Given the description of an element on the screen output the (x, y) to click on. 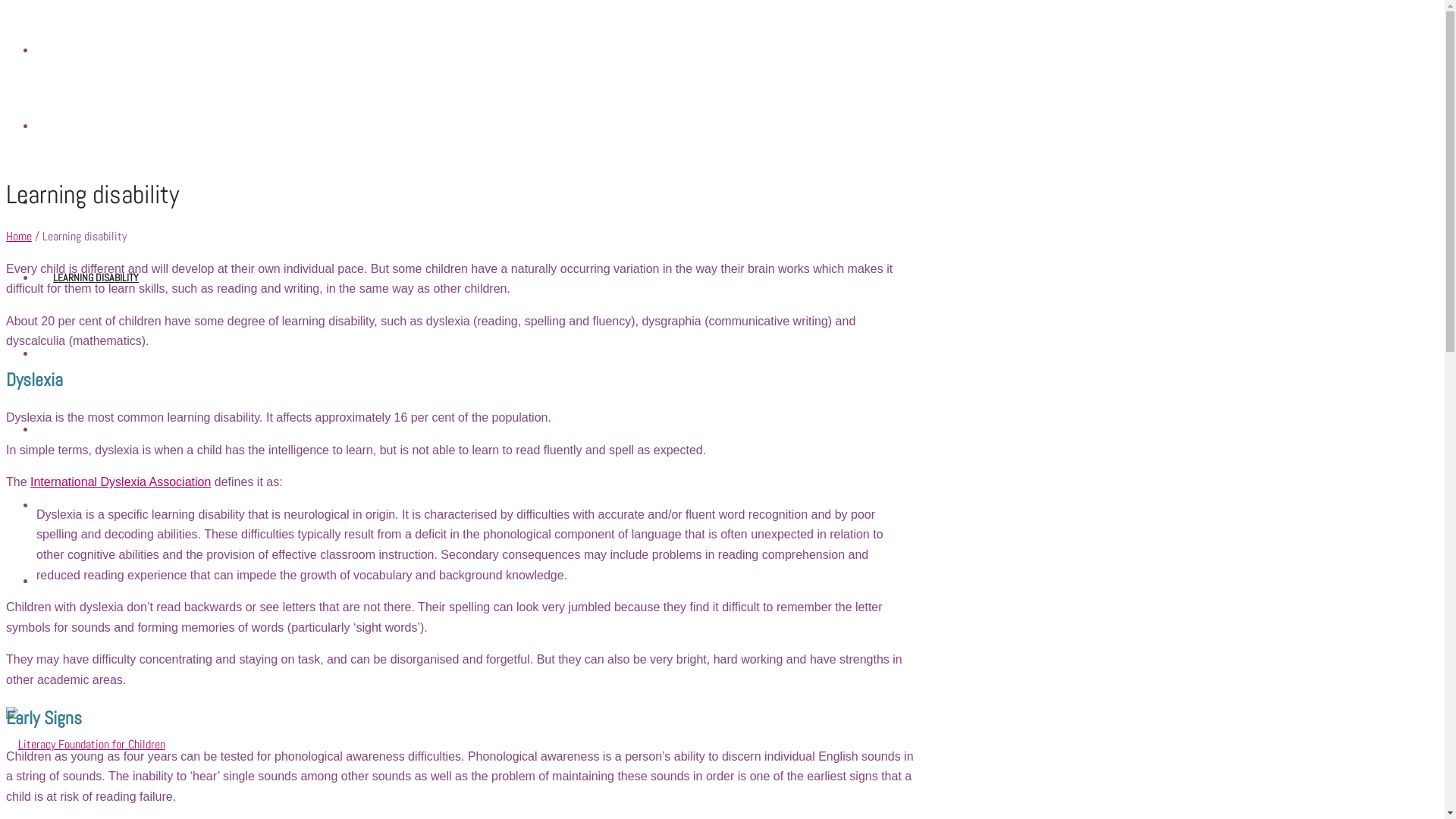
DONATE Element type: text (67, 201)
LEARNING DISABILITY Element type: text (95, 277)
SUBSCRIBE Element type: text (73, 125)
Home Element type: text (18, 236)
International Dyslexia Association Element type: text (120, 481)
HOW TO HELP Element type: text (79, 429)
Literacy Foundation for Children Element type: hover (85, 744)
GET SUPPORT Element type: text (78, 353)
NEWS AND EVENTS Element type: text (90, 504)
HOME Element type: text (63, 49)
ABOUT US Element type: text (70, 580)
